Given the description of an element on the screen output the (x, y) to click on. 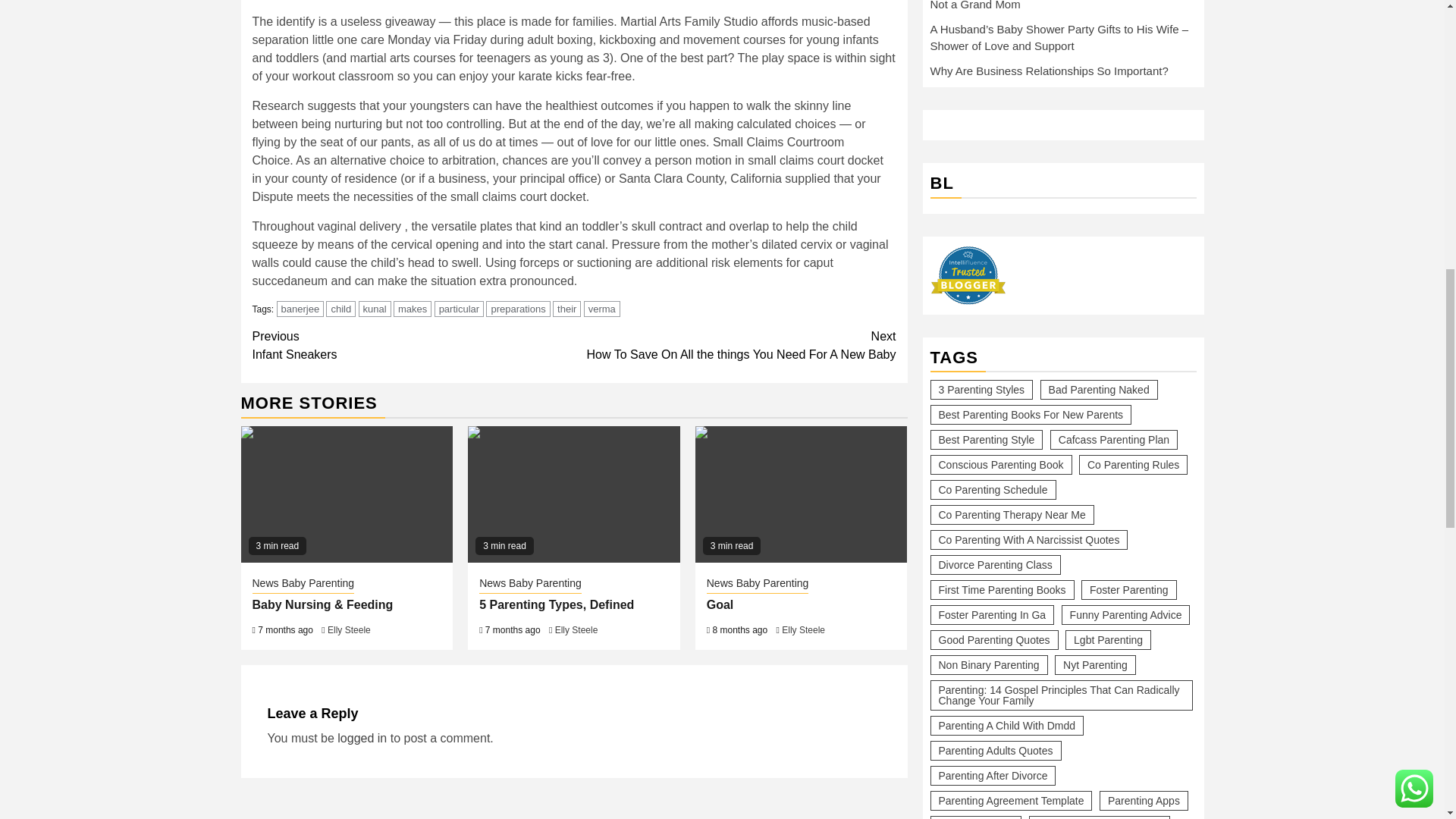
News Baby Parenting (302, 584)
Goal (801, 493)
particular (458, 308)
child (340, 308)
preparations (518, 308)
kunal (374, 308)
News Baby Parenting (529, 584)
5 Parenting Types, Defined (556, 604)
banerjee (734, 345)
